Given the description of an element on the screen output the (x, y) to click on. 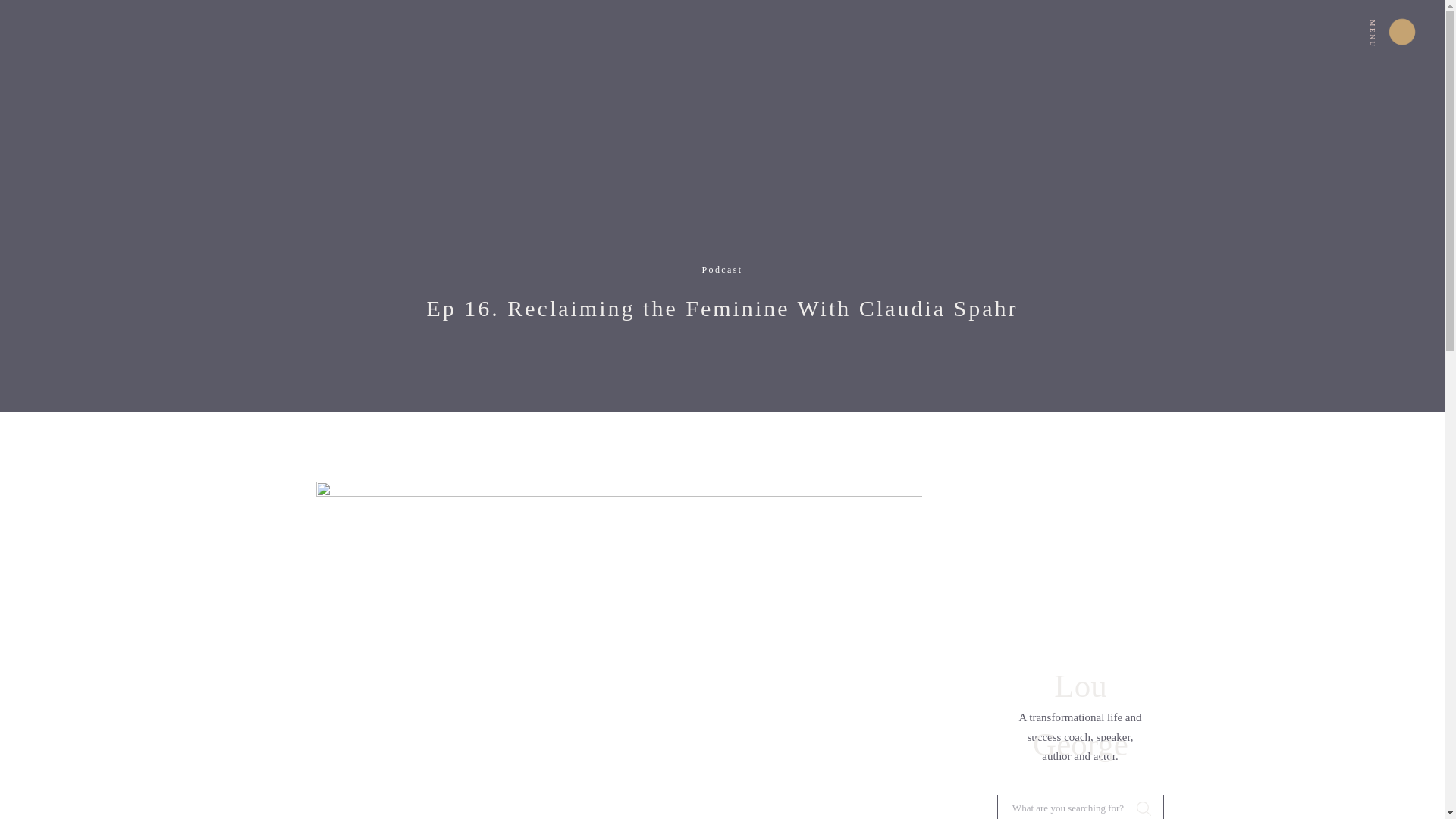
Podcast (721, 269)
Lou George (1079, 678)
MENU (1386, 16)
